Given the description of an element on the screen output the (x, y) to click on. 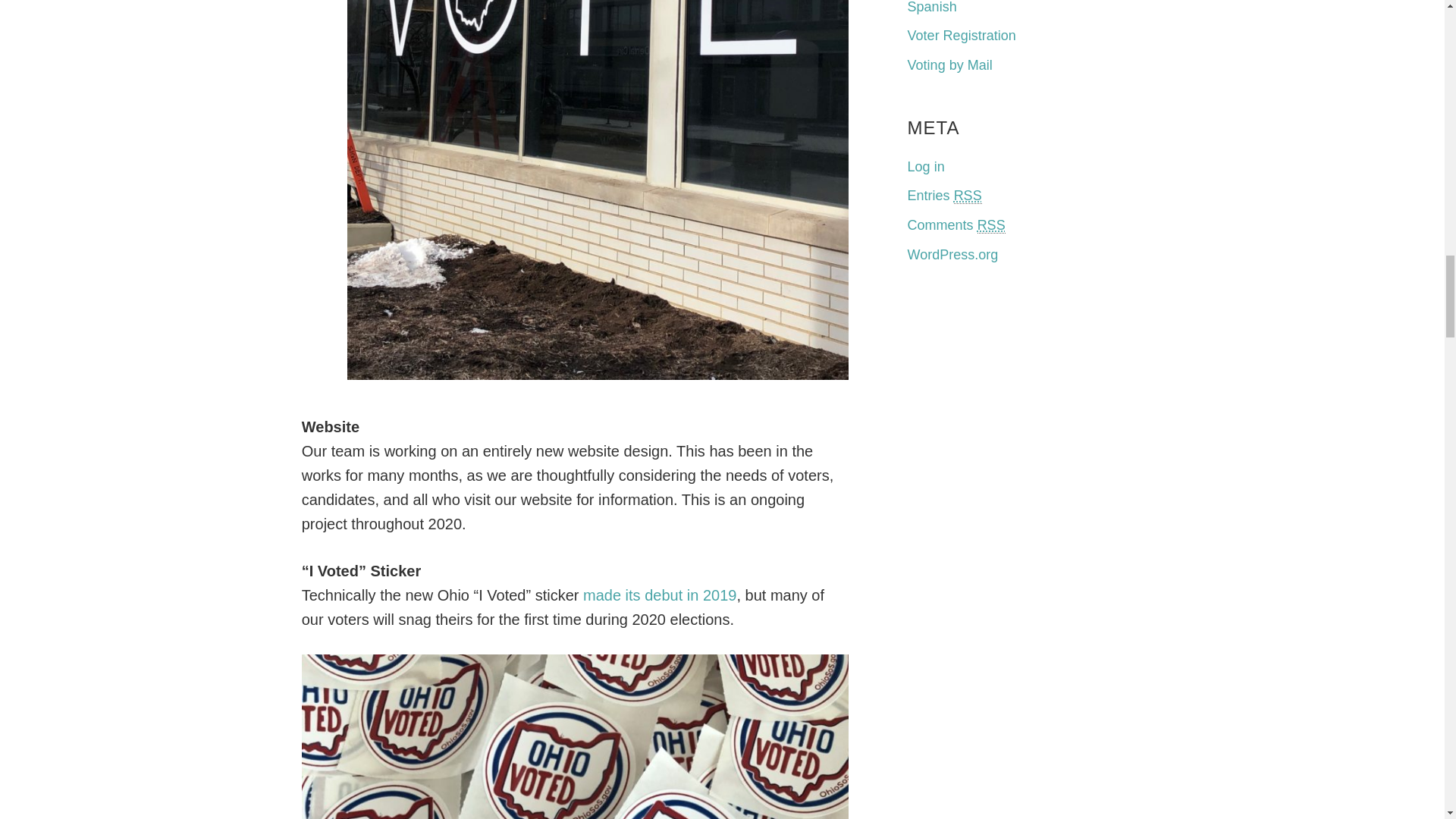
Really Simple Syndication (991, 225)
Really Simple Syndication (967, 195)
made its debut in 2019 (659, 595)
